Given the description of an element on the screen output the (x, y) to click on. 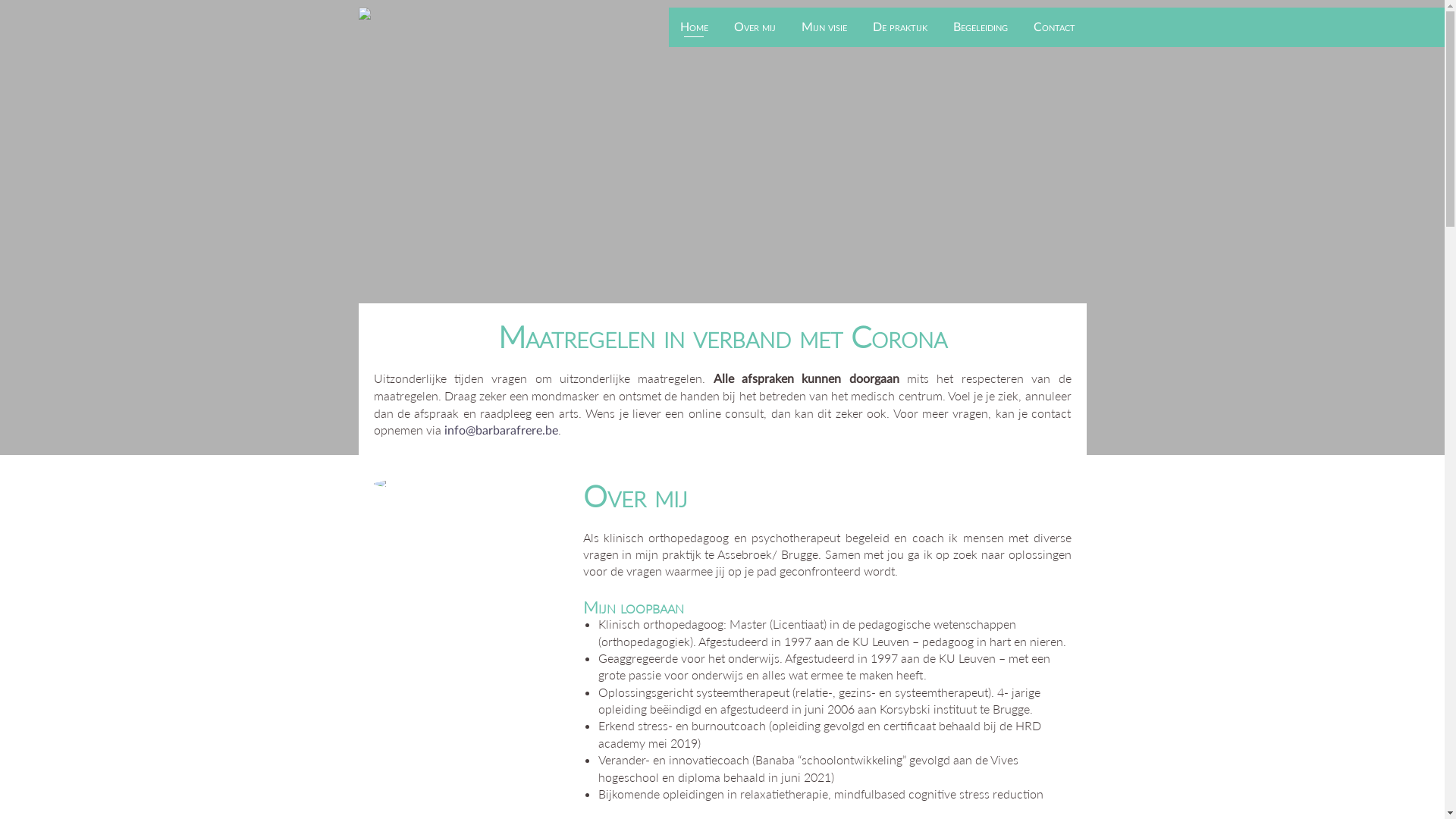
Mijn visie Element type: text (824, 27)
info@barbarafrere.be Element type: text (501, 430)
Contact Element type: text (1054, 27)
De praktijk Element type: text (899, 27)
Begeleiding Element type: text (980, 27)
Home Element type: text (693, 27)
Over mij Element type: text (753, 27)
